Given the description of an element on the screen output the (x, y) to click on. 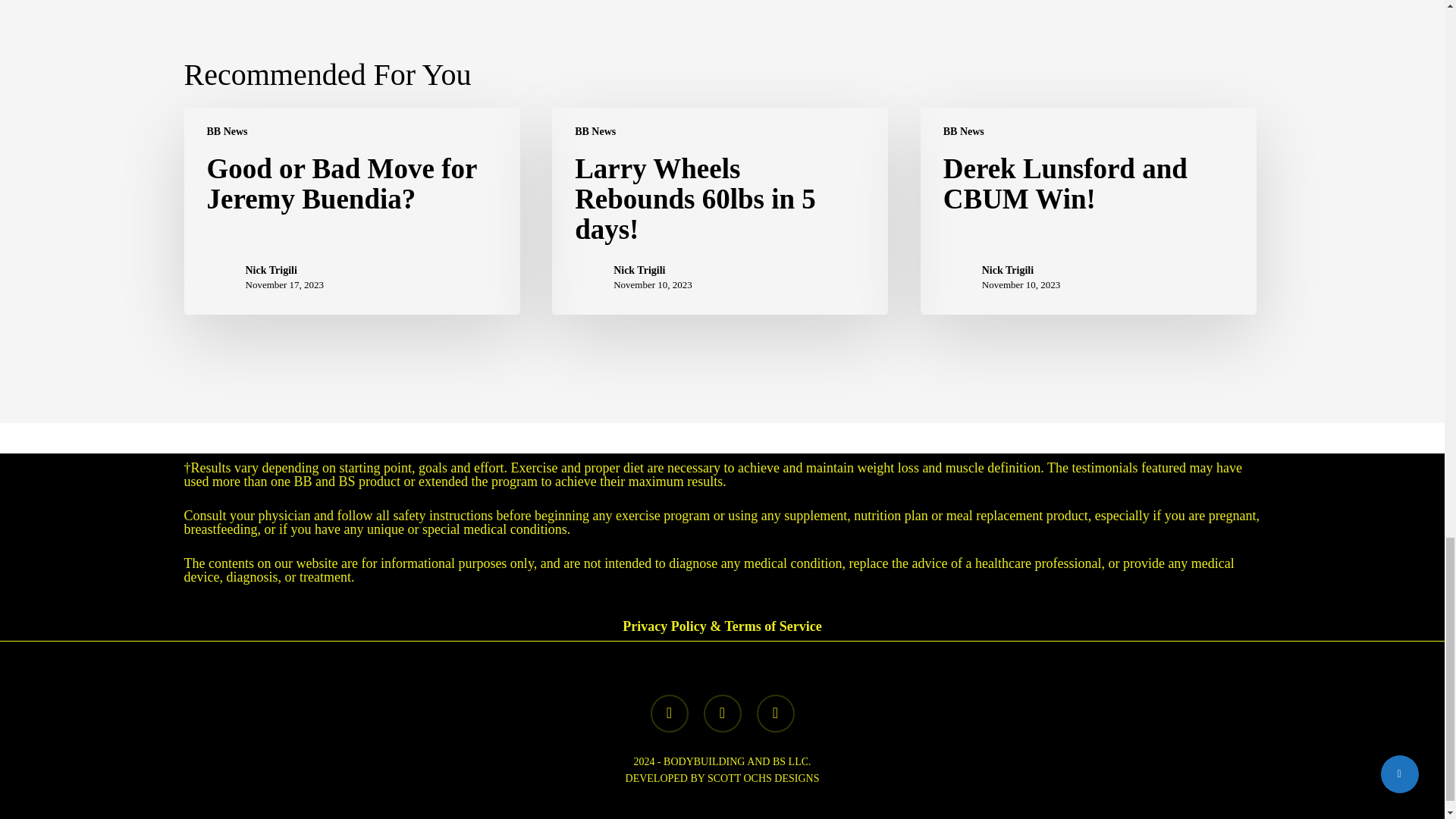
Nick Trigili (652, 270)
BB News (226, 131)
Nick Trigili (285, 270)
Nick Trigili (1021, 270)
BB News (963, 131)
BB News (595, 131)
